Given the description of an element on the screen output the (x, y) to click on. 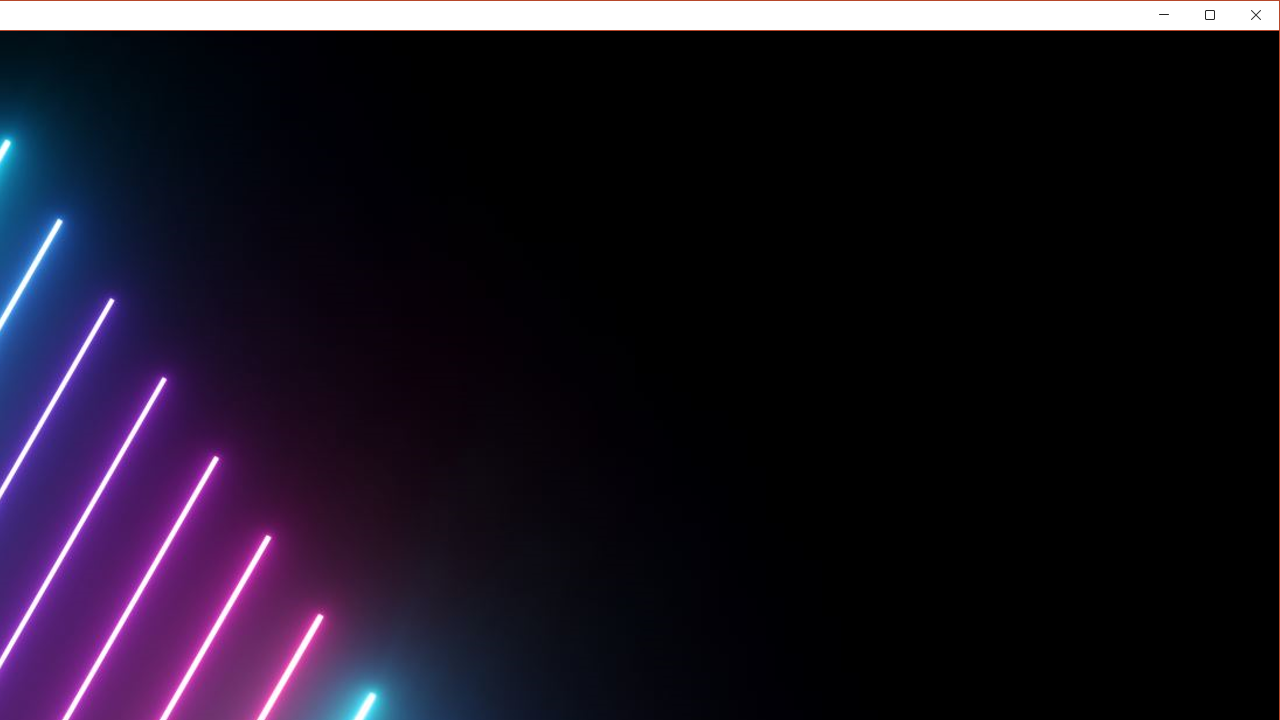
Close (1261, 18)
Minimize (1216, 18)
Maximize (1238, 18)
